Given the description of an element on the screen output the (x, y) to click on. 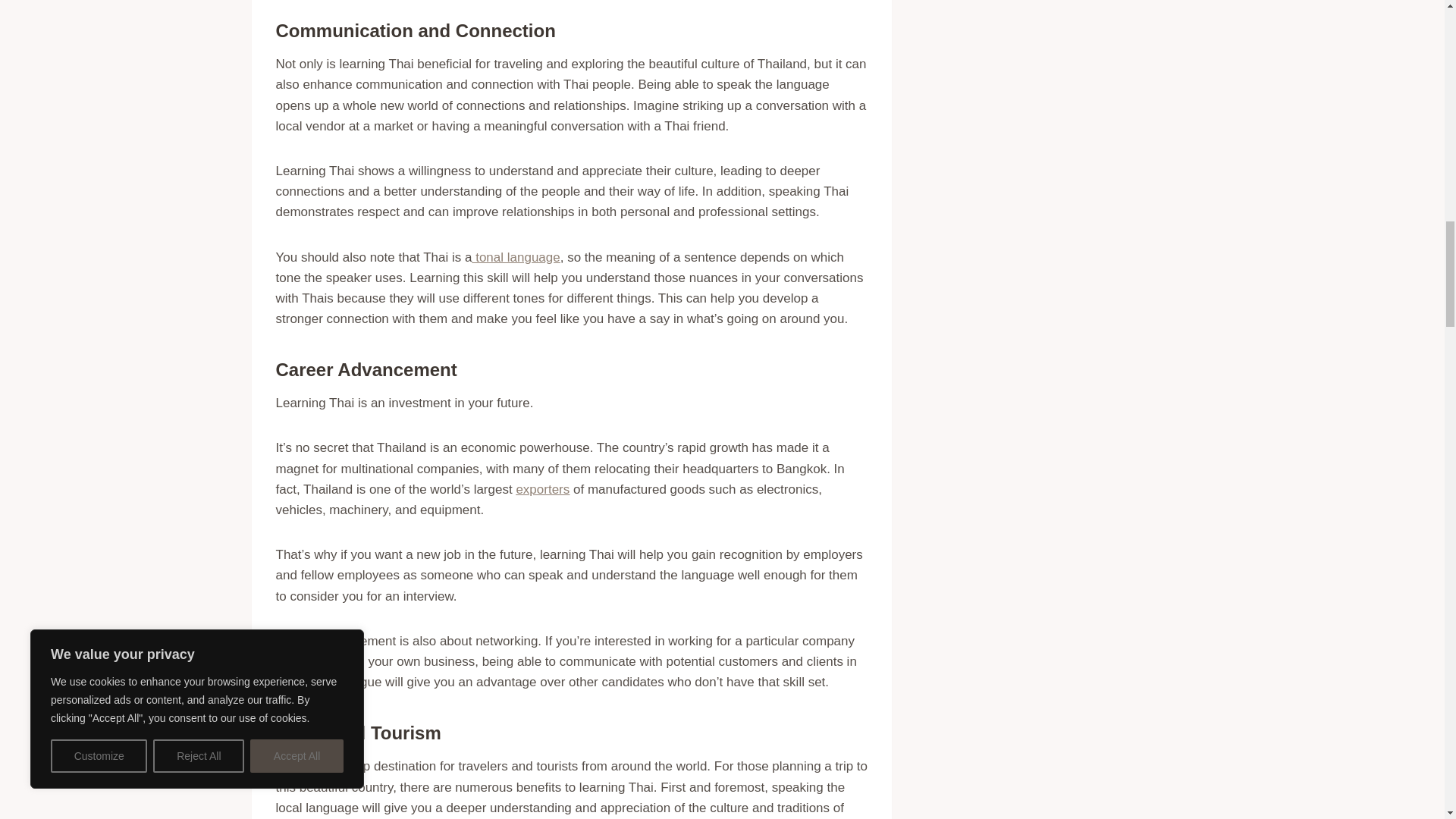
exporters (542, 489)
tonal language (515, 257)
